Given the description of an element on the screen output the (x, y) to click on. 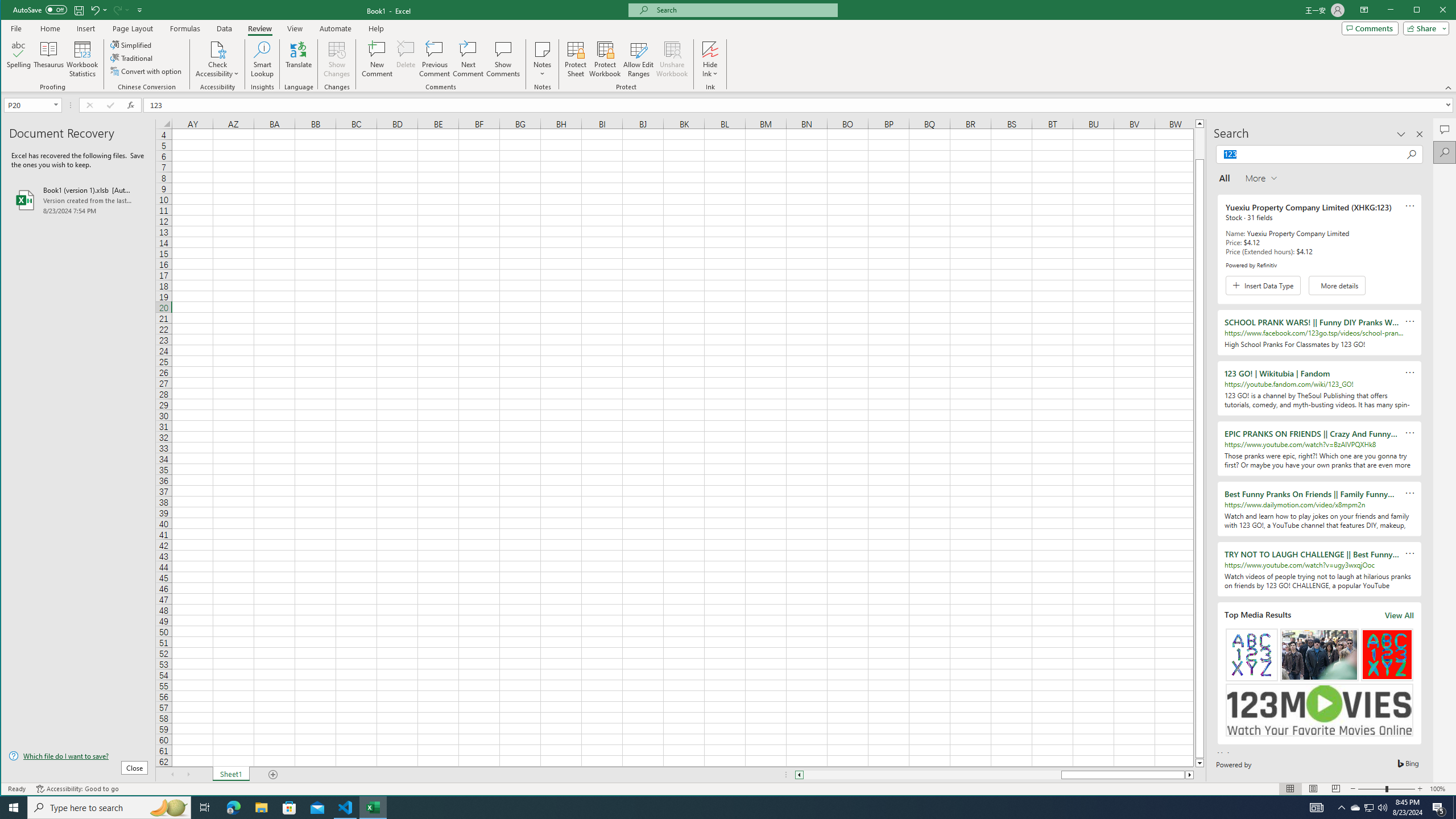
Microsoft search (742, 10)
Show desktop (1454, 807)
Smart Lookup (261, 59)
Task Pane Options (1400, 133)
AutomationID: 4105 (1316, 807)
Previous Comment (434, 59)
Protect Sheet... (1368, 807)
Close (575, 59)
Convert with option (1445, 11)
Automate (146, 70)
Class: NetUIScrollBar (336, 28)
Zoom Out (994, 774)
Check Accessibility (1372, 788)
